Given the description of an element on the screen output the (x, y) to click on. 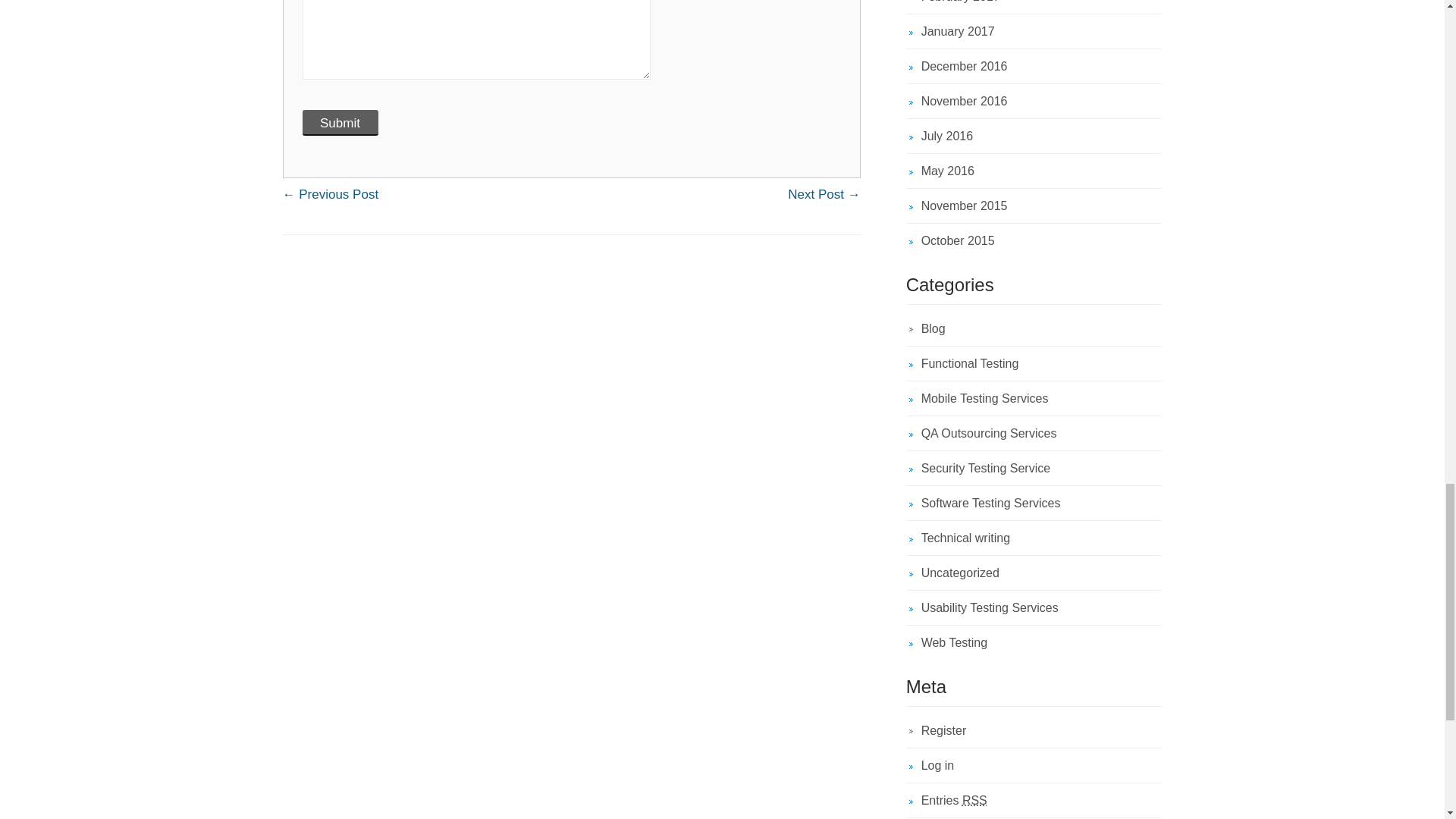
Submit (339, 122)
Really Simple Syndication (974, 799)
Submit (339, 122)
